Given the description of an element on the screen output the (x, y) to click on. 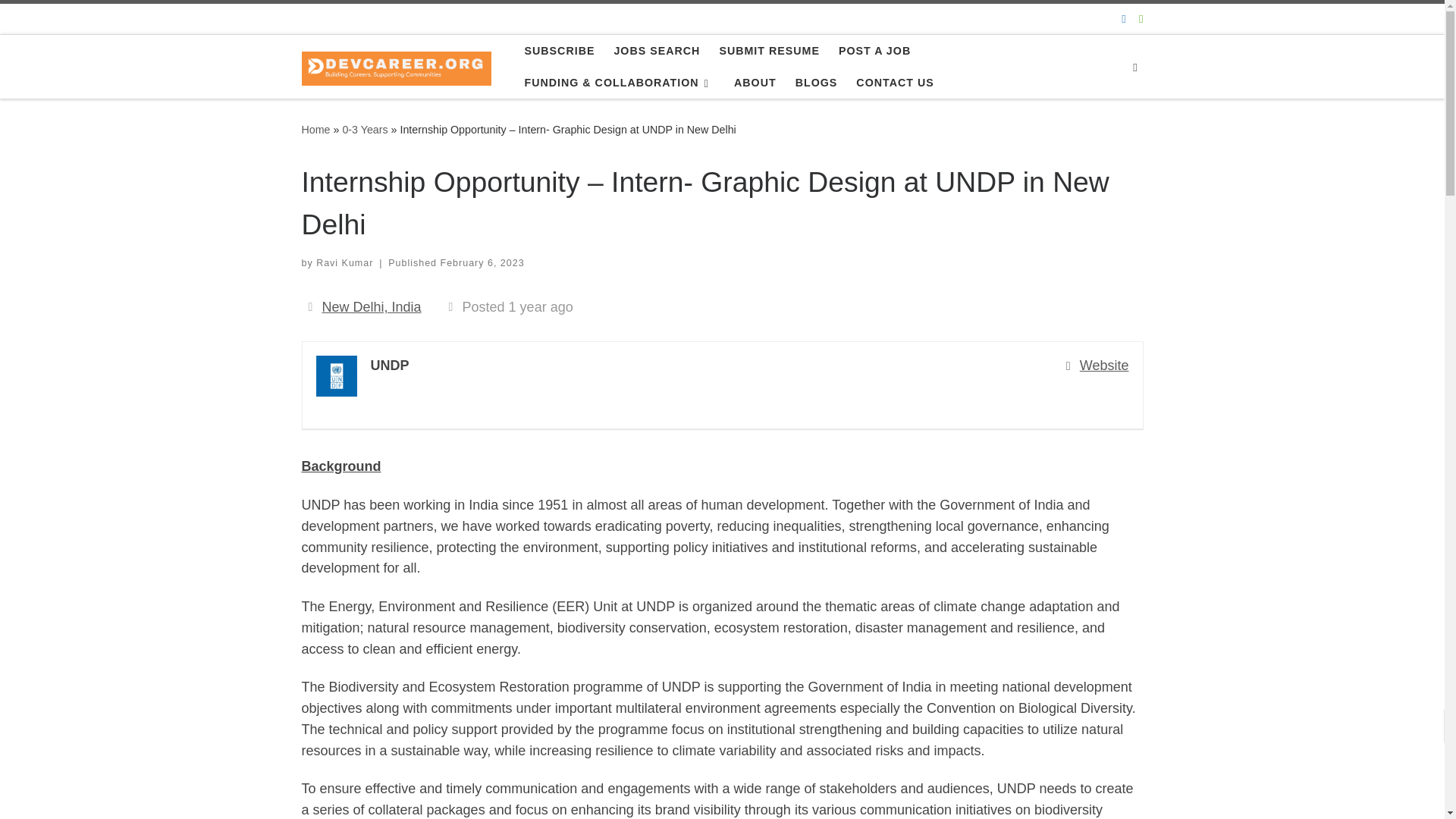
0-3 Years (364, 129)
ABOUT (754, 82)
10:33 am (482, 262)
Home (315, 129)
POST A JOB (874, 50)
JOBS SEARCH (656, 50)
Ravi Kumar (343, 262)
Skip to content (60, 20)
February 6, 2023 (482, 262)
CONTACT US (895, 82)
0-3 Years (364, 129)
SUBMIT RESUME (769, 50)
View all posts by Ravi Kumar (343, 262)
BLOGS (815, 82)
SUBSCRIBE (558, 50)
